Given the description of an element on the screen output the (x, y) to click on. 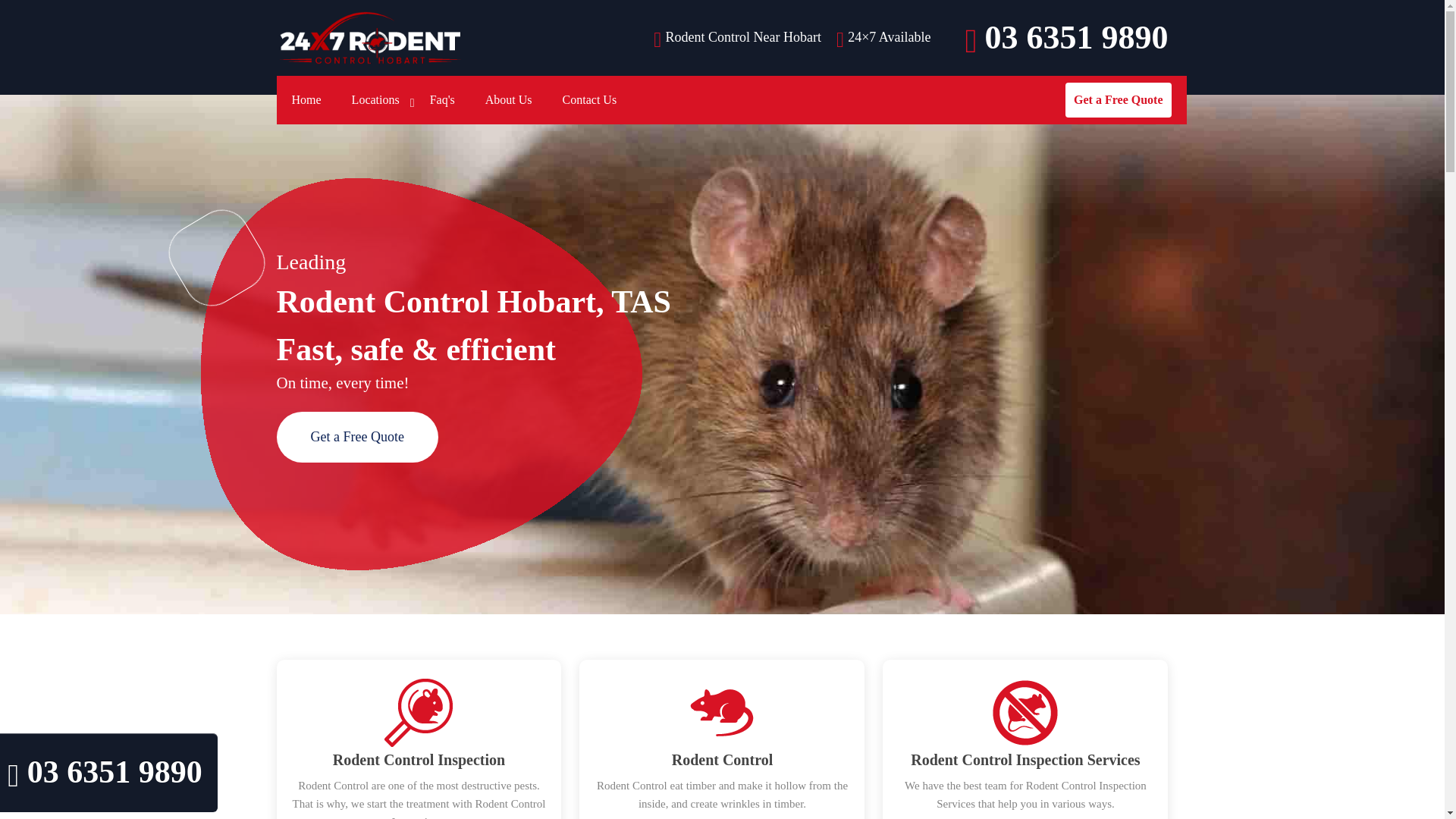
Faq's (442, 100)
About Us (508, 100)
Get a Free Quote (1117, 99)
03 6351 9890 (1065, 38)
03 6351 9890 (1065, 38)
Contact Us (589, 100)
About Us (508, 100)
Home (306, 100)
Locations (375, 100)
Faq's (442, 100)
